Given the description of an element on the screen output the (x, y) to click on. 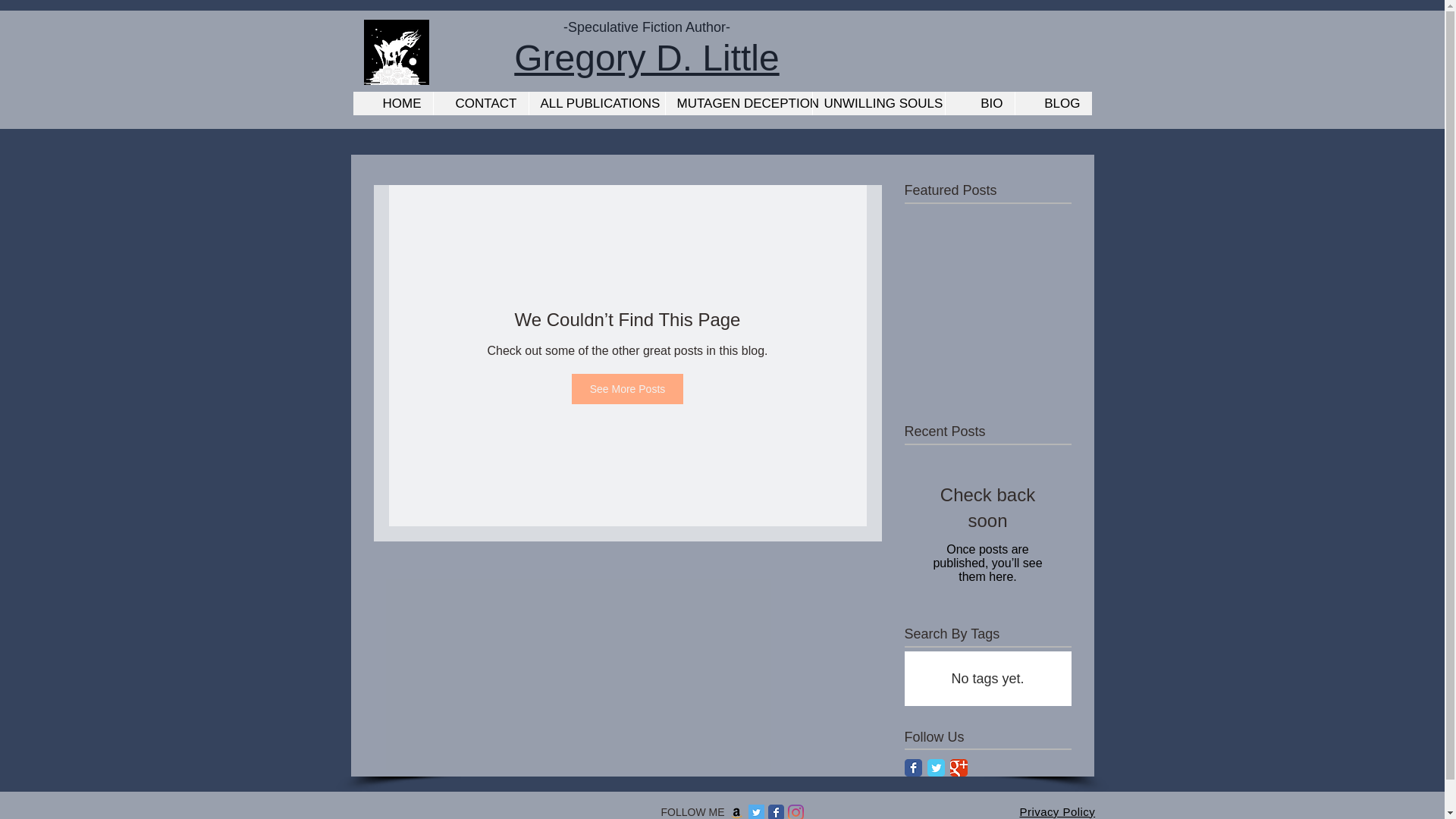
BLOG (1053, 103)
CONTACT (479, 103)
Gregory D. Little (645, 57)
MUTAGEN DECEPTION (736, 103)
ALL PUBLICATIONS (595, 103)
BIO (979, 103)
HOME (392, 103)
See More Posts (628, 388)
UNWILLING SOULS (876, 103)
Privacy Policy (1056, 811)
